Given the description of an element on the screen output the (x, y) to click on. 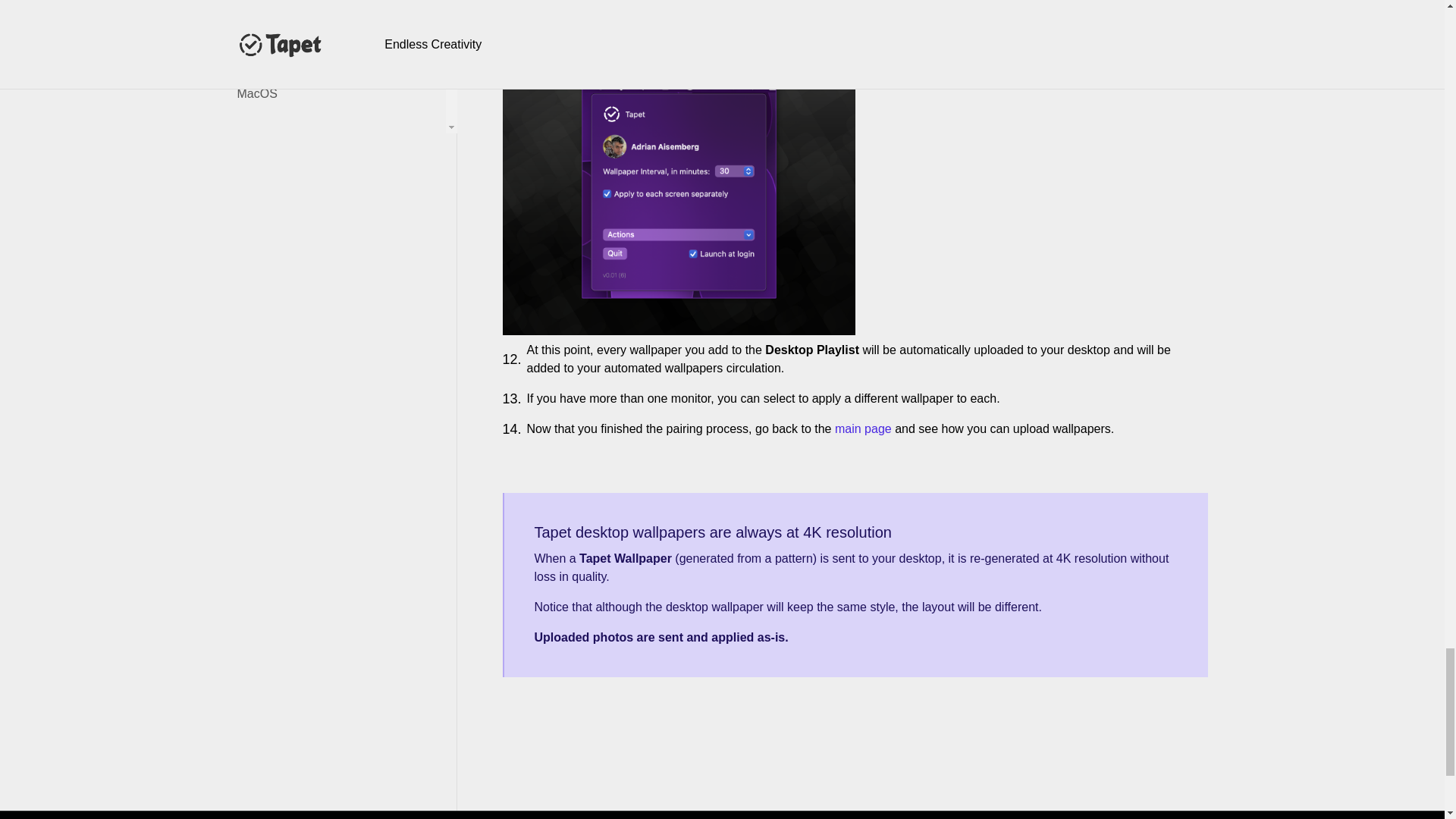
main page (862, 428)
